Given the description of an element on the screen output the (x, y) to click on. 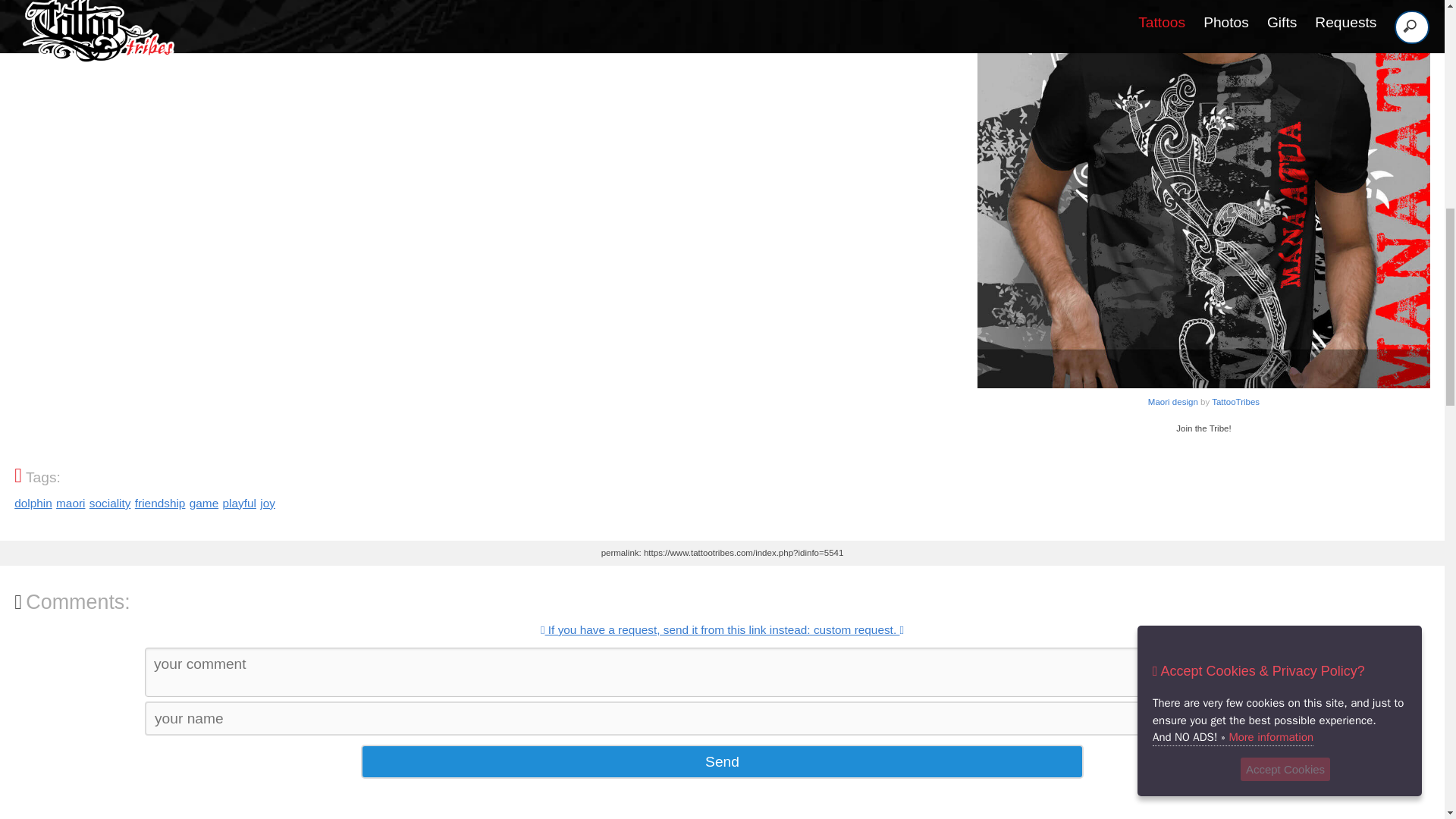
playful (239, 502)
friendship (160, 502)
joy (33, 502)
maori (267, 502)
game (70, 502)
Send (203, 502)
sociality (722, 761)
